Given the description of an element on the screen output the (x, y) to click on. 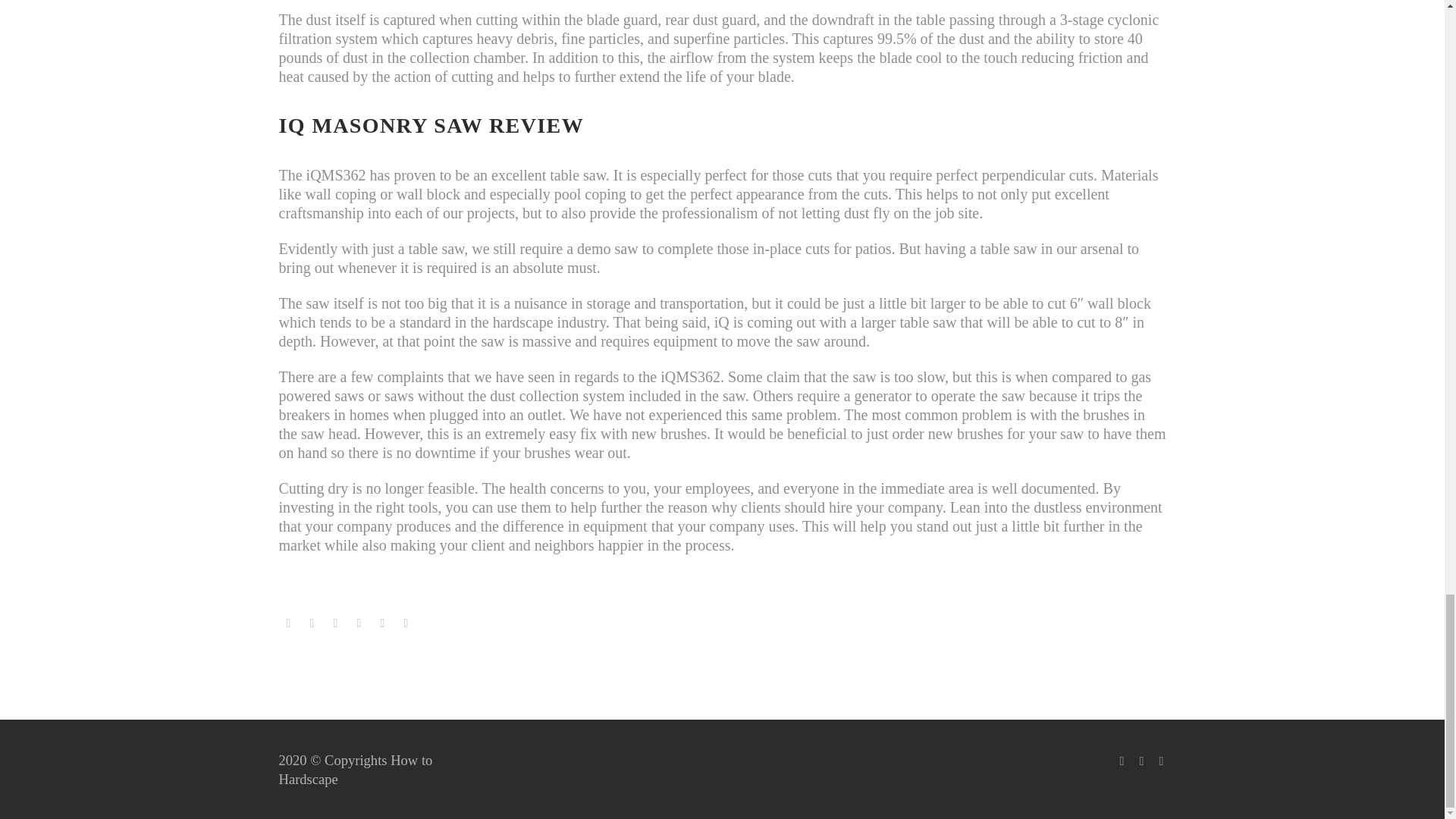
Tumblr (359, 623)
Facebook (288, 623)
Twitter (311, 623)
Pinterest (334, 623)
